Given the description of an element on the screen output the (x, y) to click on. 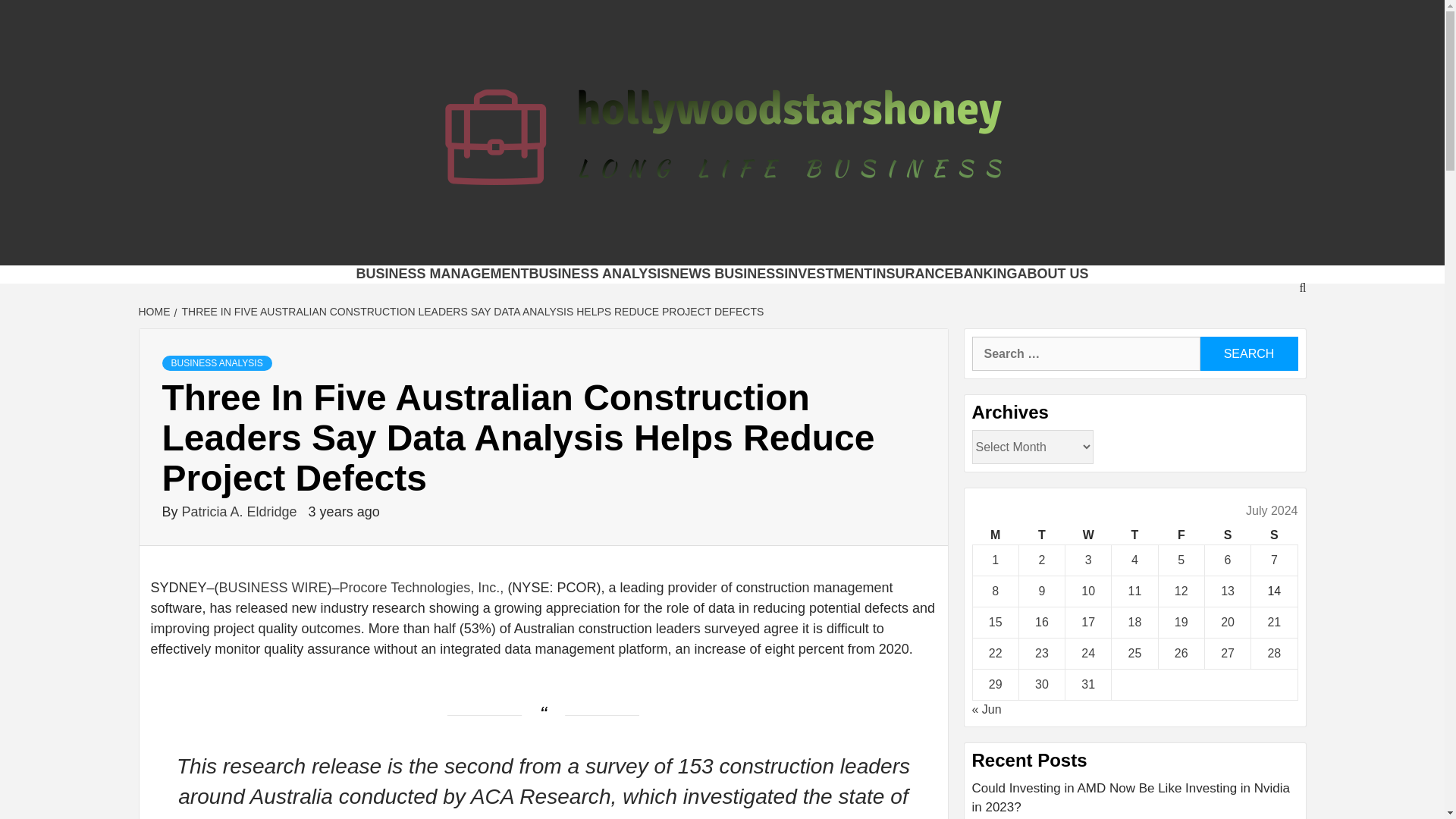
Procore Technologies, Inc., (421, 587)
Search (1248, 353)
Monday (994, 535)
Wednesday (1088, 535)
INVESTMENT (828, 273)
Saturday (1227, 535)
Search (1248, 353)
BANKING (984, 273)
BUSINESS MANAGEMENT (442, 273)
ABOUT US (1051, 273)
Patricia A. Eldridge (241, 511)
INSURANCE (912, 273)
HOME (155, 311)
Tuesday (1040, 535)
